Given the description of an element on the screen output the (x, y) to click on. 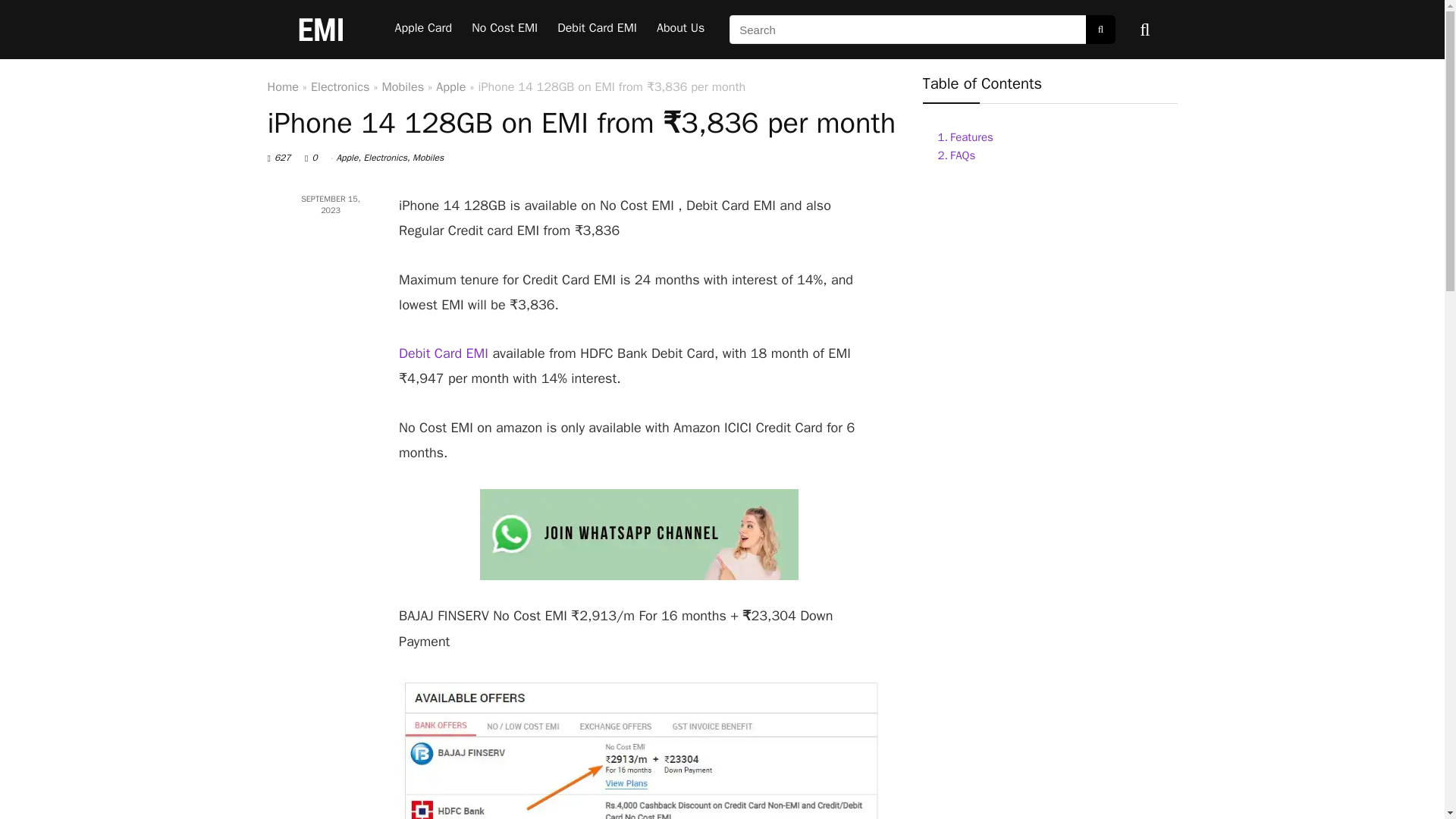
No Cost EMI Guide (504, 29)
Mobiles (403, 86)
Debit Card EMI (596, 29)
View all posts in Apple (347, 157)
View all posts in Mobiles (428, 157)
Apple (347, 157)
View all posts in Electronics (385, 157)
No Cost EMI (504, 29)
Apple Card (424, 29)
Features (961, 136)
